Given the description of an element on the screen output the (x, y) to click on. 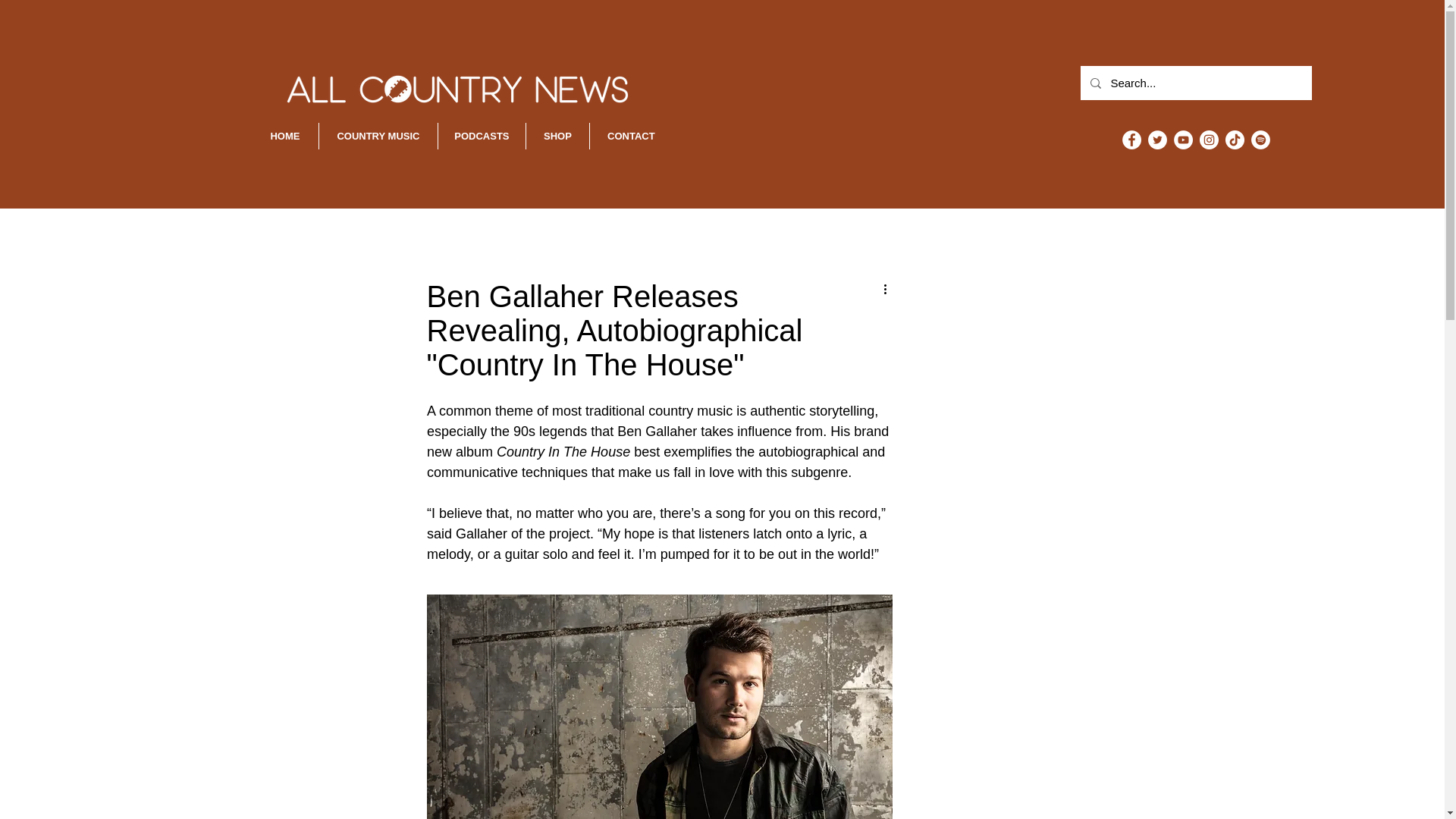
CONTACT (630, 135)
SHOP (557, 135)
COUNTRY MUSIC (378, 135)
HOME (284, 135)
